Given the description of an element on the screen output the (x, y) to click on. 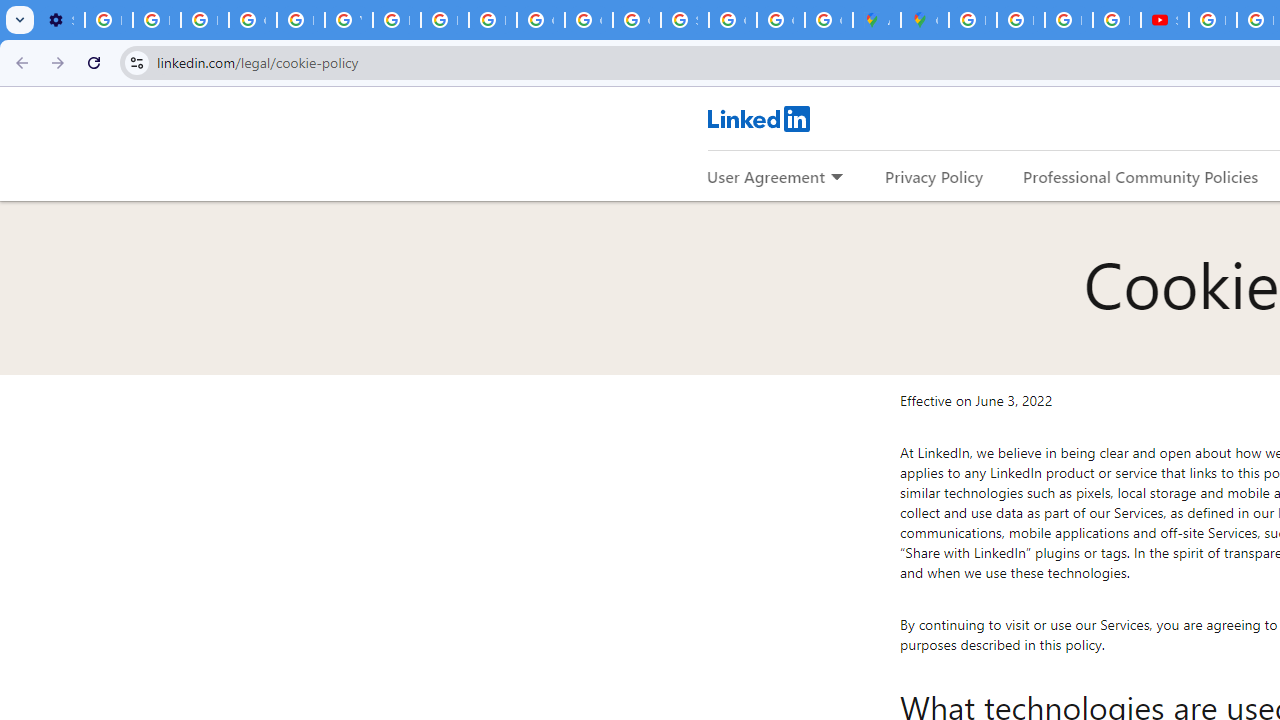
Back (19, 62)
Privacy Help Center - Policies Help (1020, 20)
Privacy Help Center - Policies Help (300, 20)
How Chrome protects your passwords - Google Chrome Help (1212, 20)
